Given the description of an element on the screen output the (x, y) to click on. 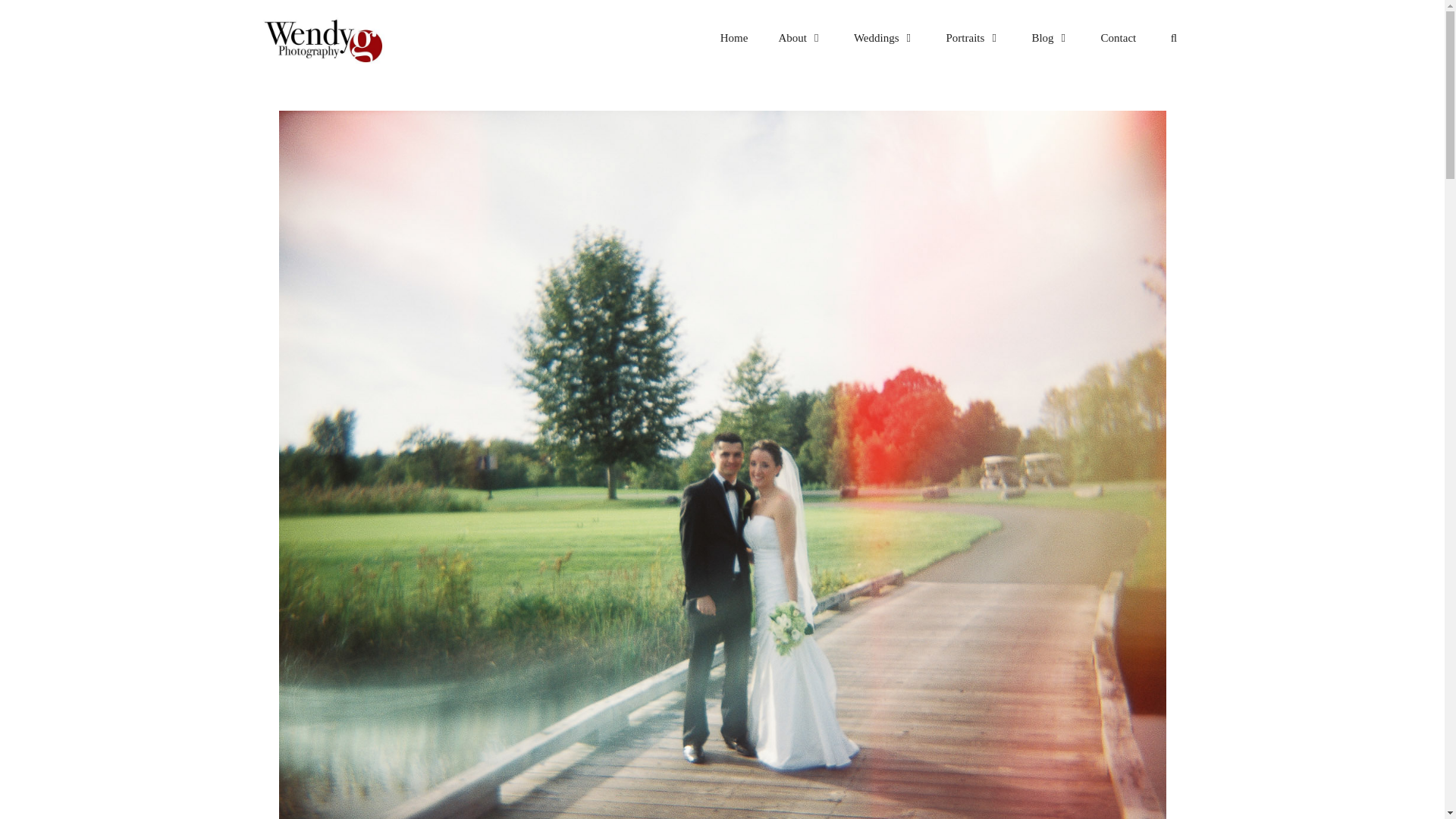
Portraits (973, 37)
Weddings (884, 37)
Home (733, 37)
About (800, 37)
Contact (1118, 37)
Blog (1050, 37)
